Given the description of an element on the screen output the (x, y) to click on. 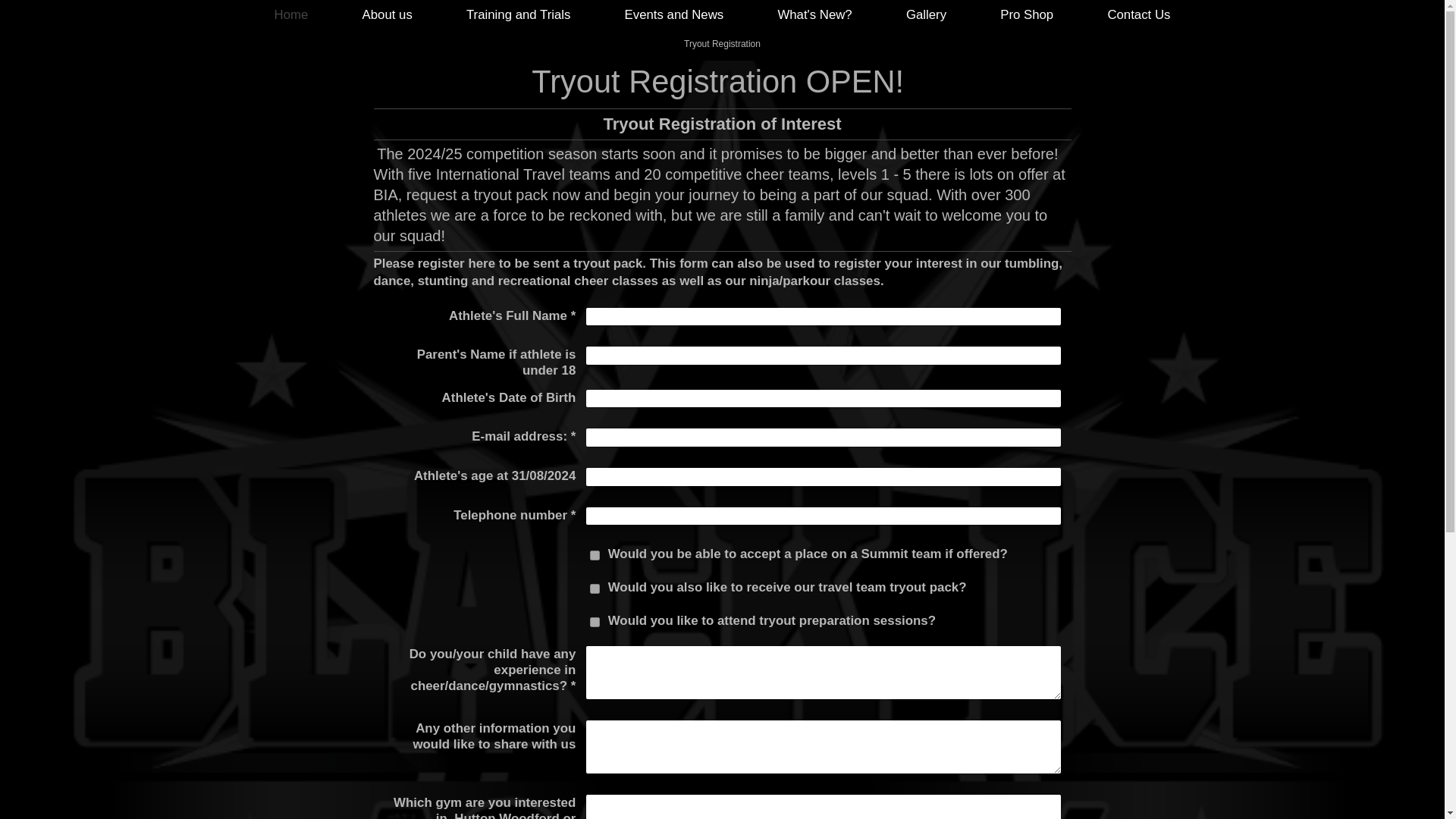
Pro Shop (1026, 15)
About us (387, 15)
Training and Trials (518, 15)
Events and News (673, 15)
What's New? (814, 15)
on (594, 555)
Tryout Registration (721, 44)
on (594, 588)
Gallery (925, 15)
Contact Us (1138, 15)
